Given the description of an element on the screen output the (x, y) to click on. 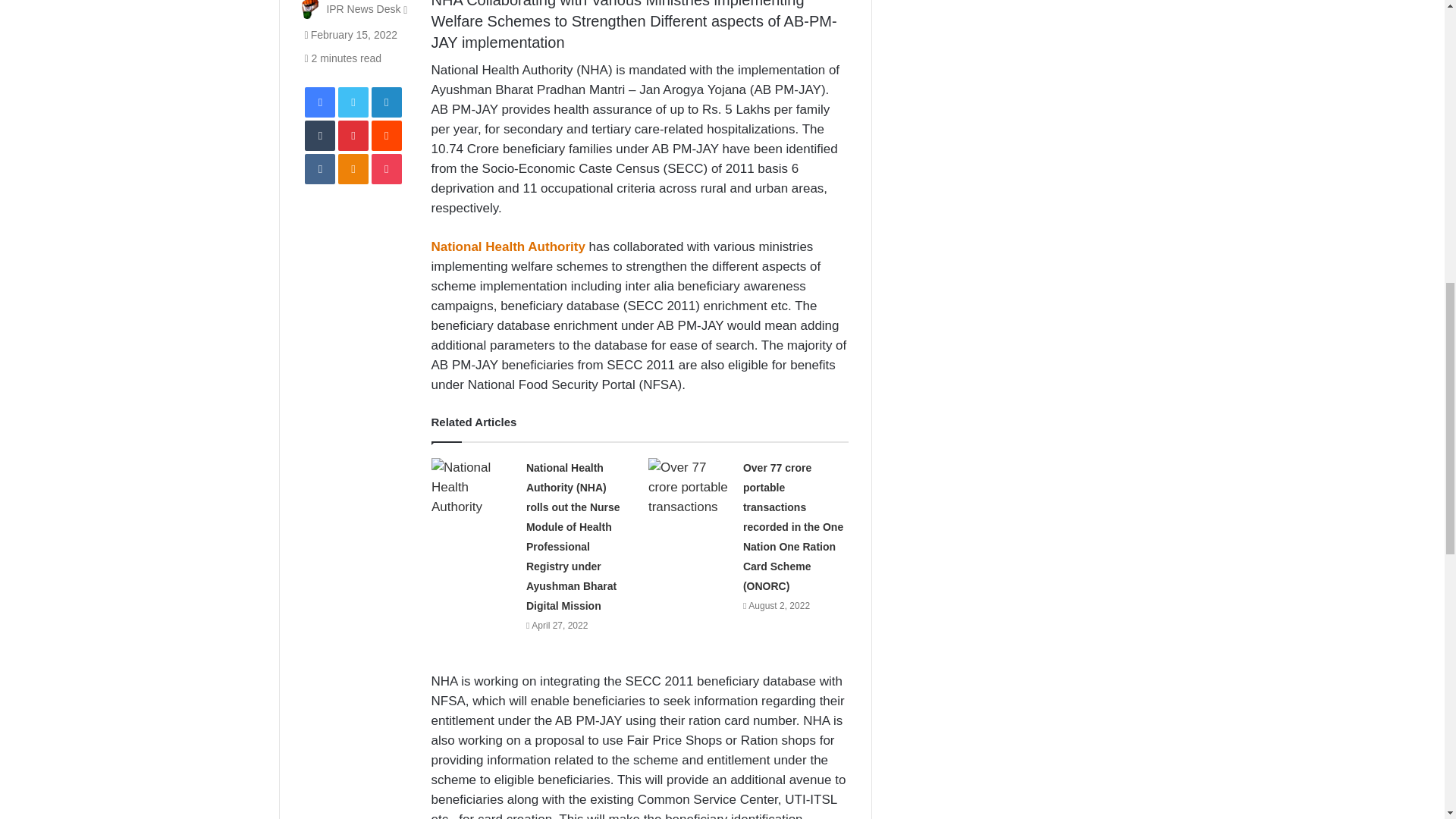
Pinterest (352, 135)
Reddit (386, 135)
LinkedIn (386, 101)
Facebook (319, 101)
VKontakte (319, 168)
Tumblr (319, 135)
National Health Authority (507, 246)
Twitter (352, 101)
IPR News Desk (363, 9)
